Given the description of an element on the screen output the (x, y) to click on. 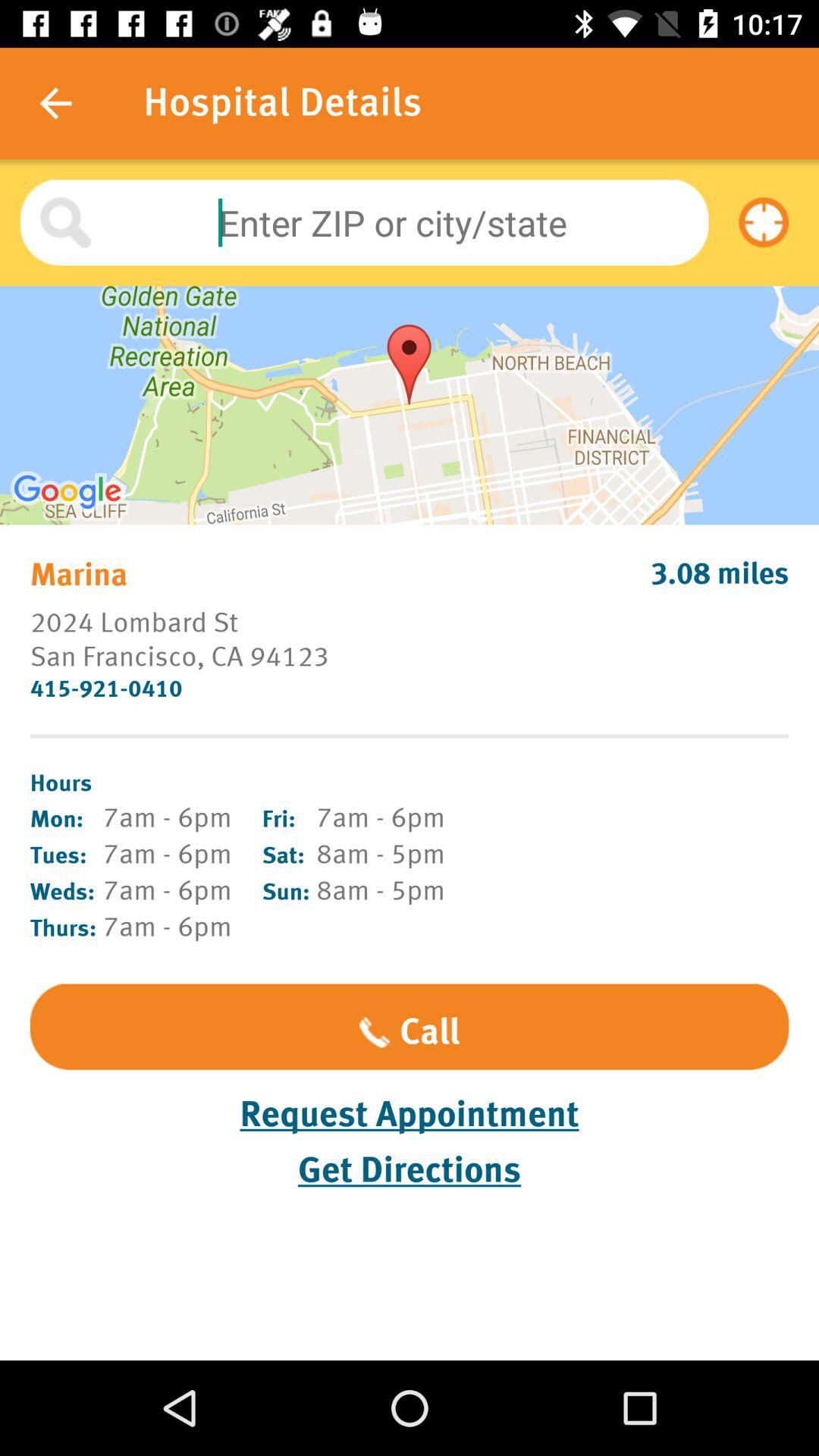
jump until request appointment item (409, 1114)
